Given the description of an element on the screen output the (x, y) to click on. 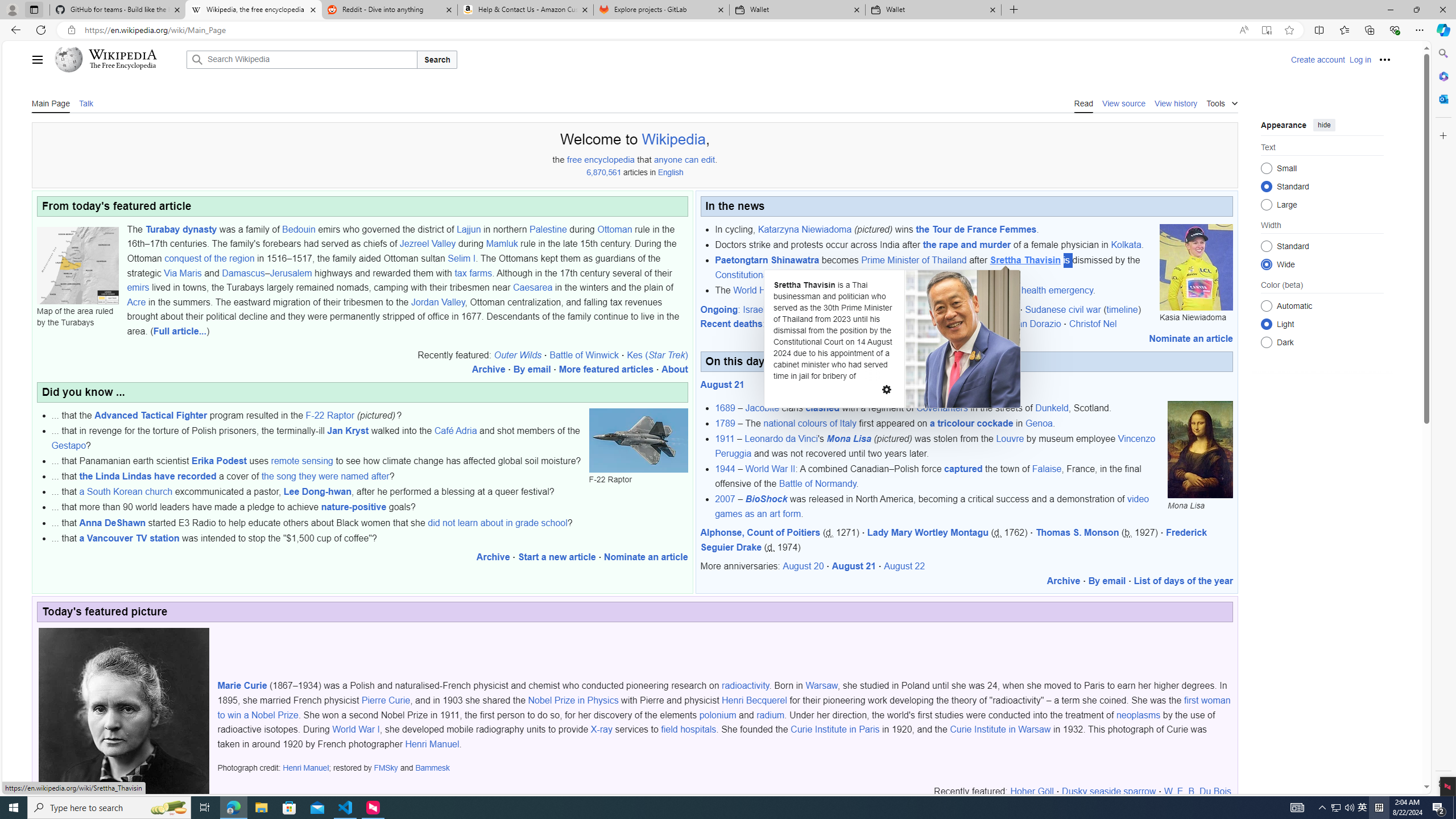
F-22 Raptor (329, 415)
List of days of the year (1183, 580)
Automatic (1266, 305)
Palestine (547, 229)
Kasia Niewiadoma (1195, 266)
field hospitals (688, 729)
Vincenzo Peruggia (935, 446)
6,870,561 (603, 172)
Damascus (242, 272)
